Given the description of an element on the screen output the (x, y) to click on. 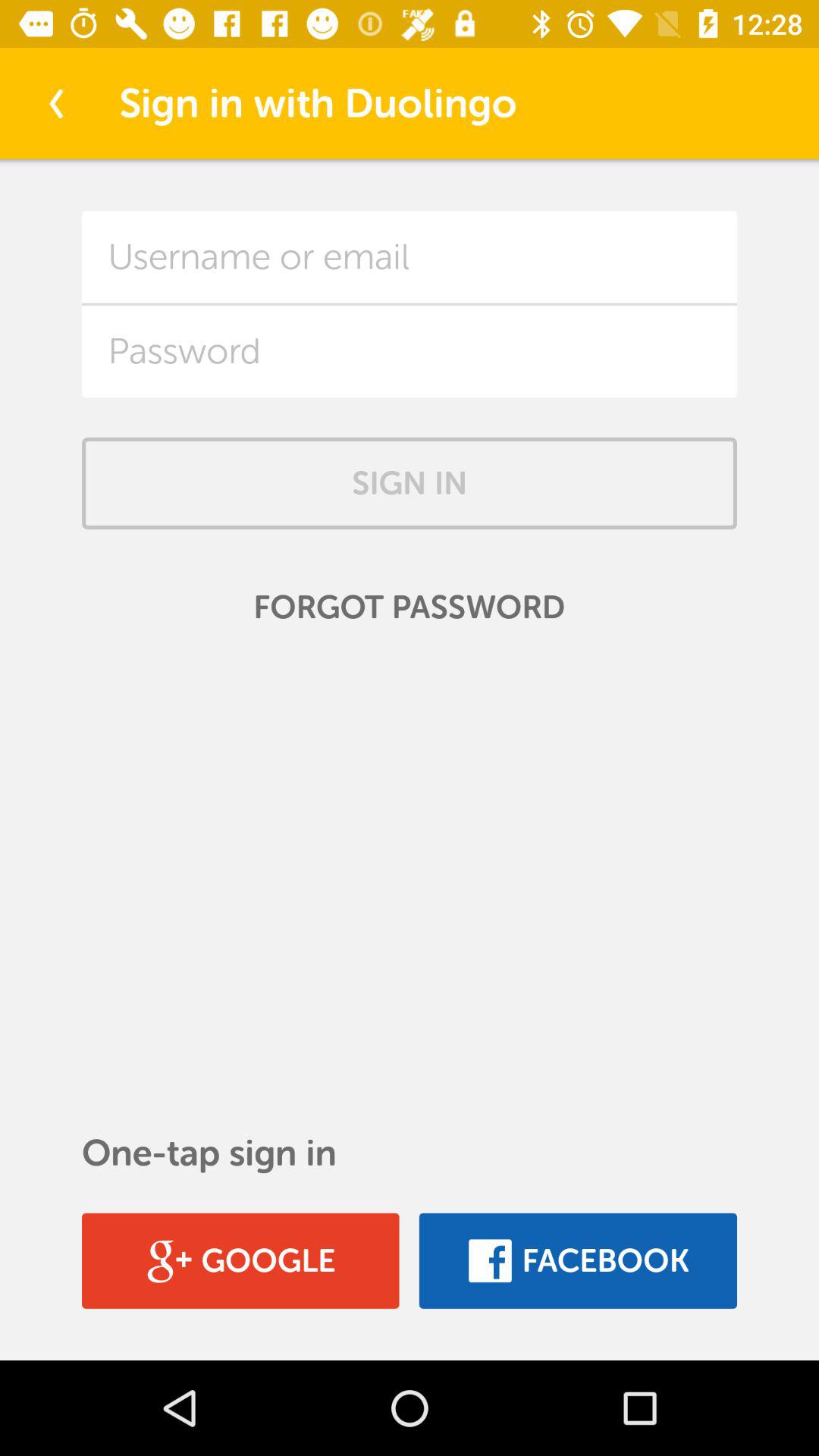
scroll to the forgot password (409, 607)
